Given the description of an element on the screen output the (x, y) to click on. 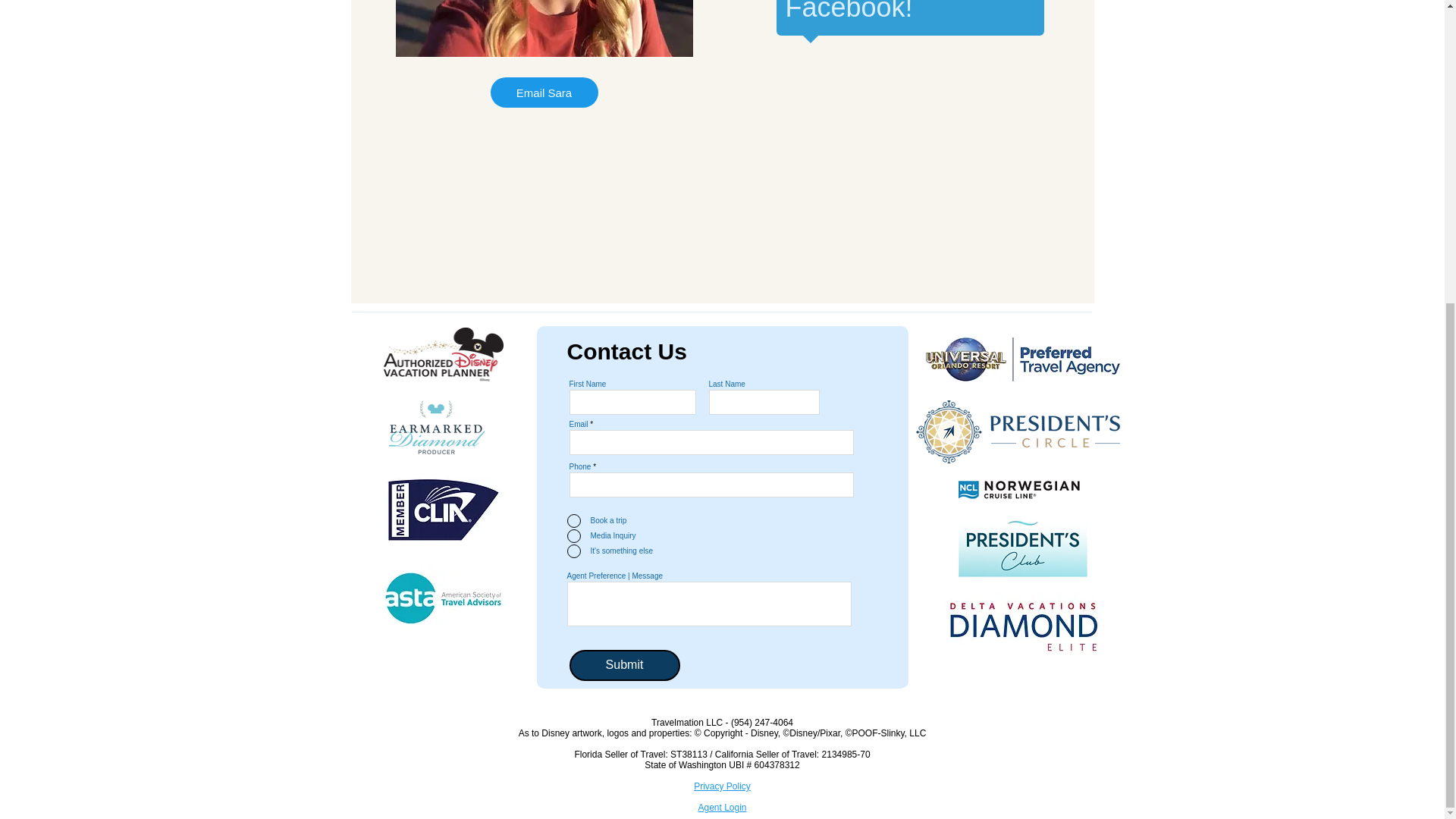
Submit (624, 665)
Email Sara (542, 91)
Privacy Policy (722, 786)
Agent Login (721, 807)
